Given the description of an element on the screen output the (x, y) to click on. 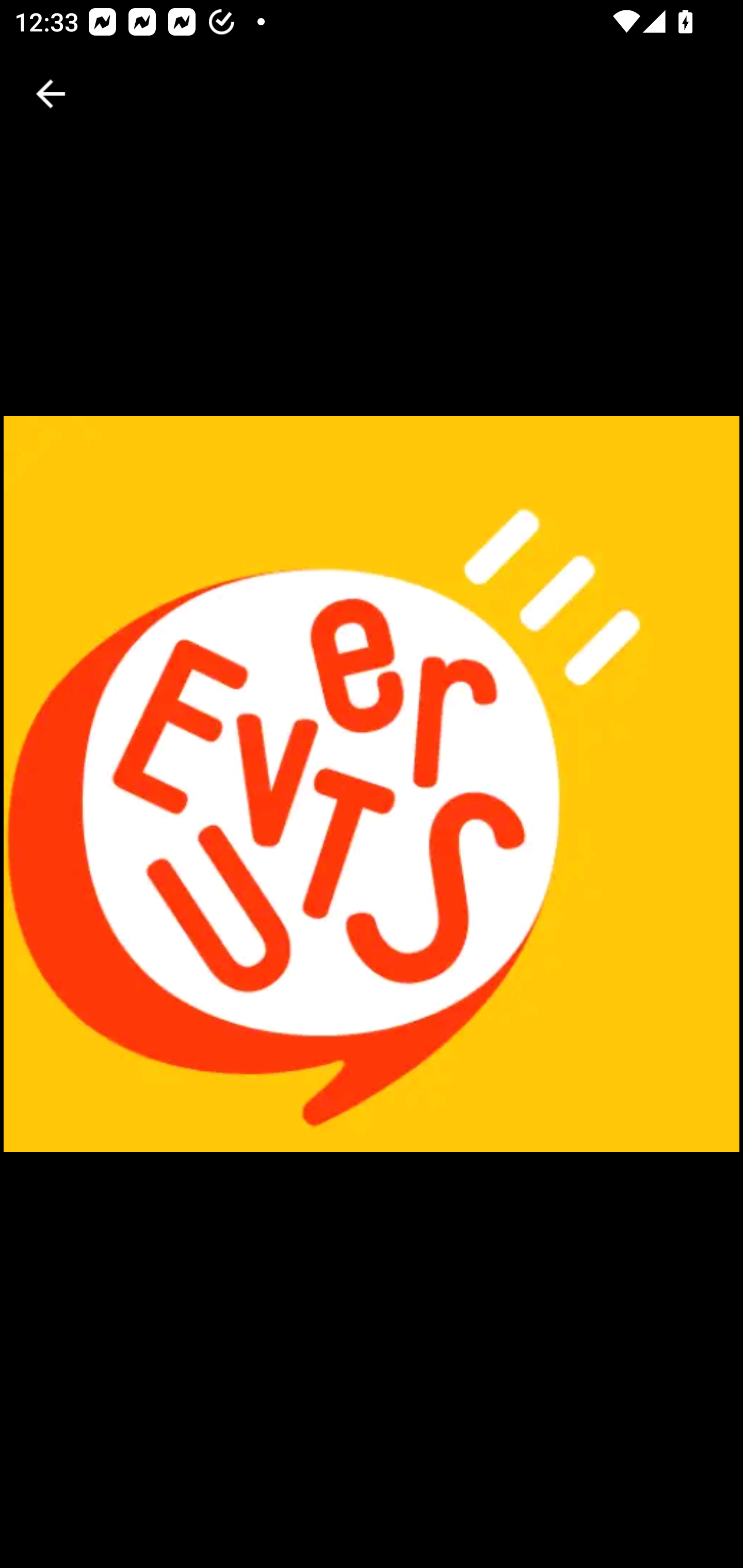
Back (50, 93)
